Given the description of an element on the screen output the (x, y) to click on. 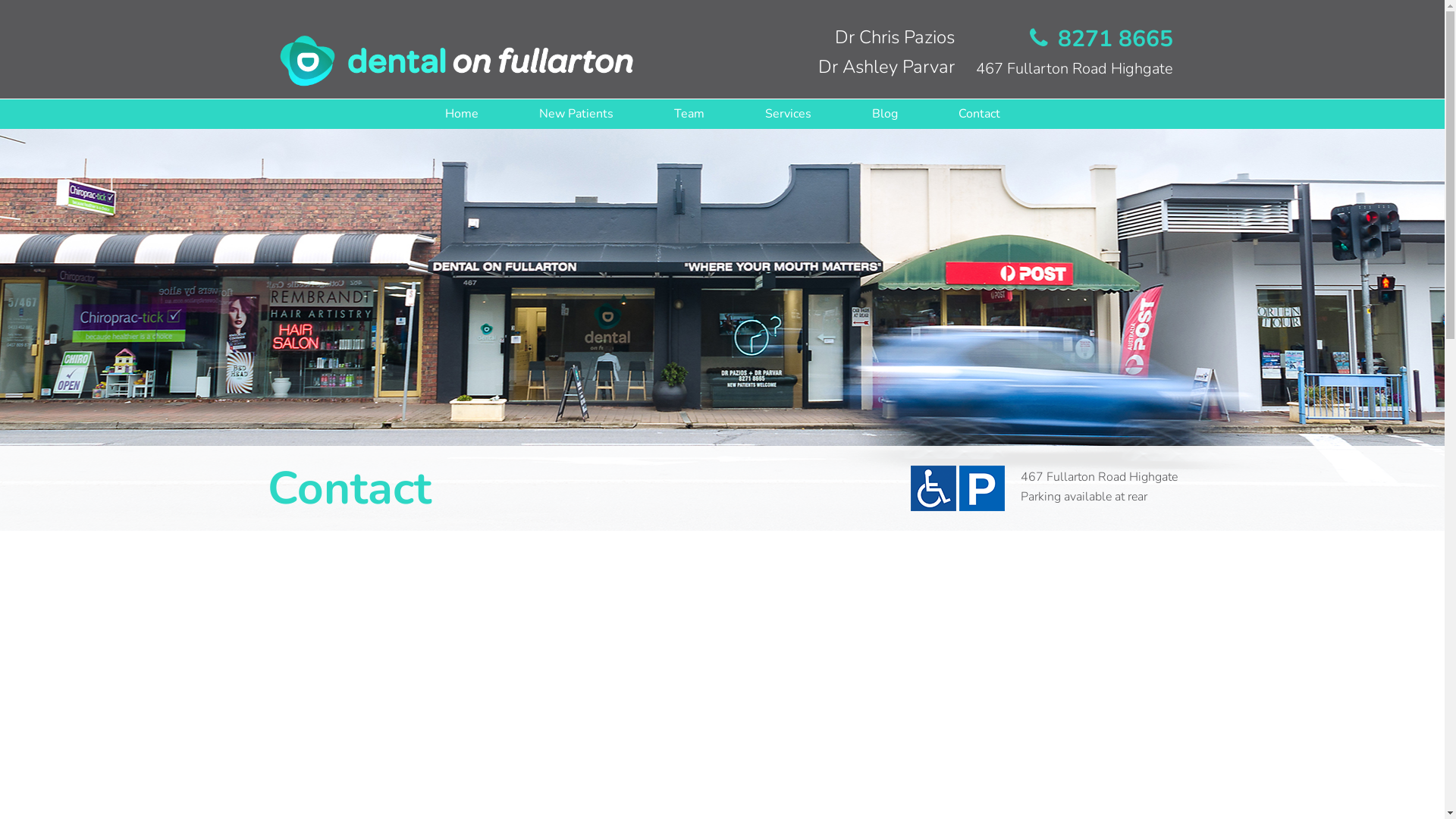
Contact Element type: text (979, 113)
Blog Element type: text (884, 113)
Services Element type: text (787, 113)
New Patients Element type: text (575, 113)
Home Element type: text (461, 113)
Team Element type: text (688, 113)
